Given the description of an element on the screen output the (x, y) to click on. 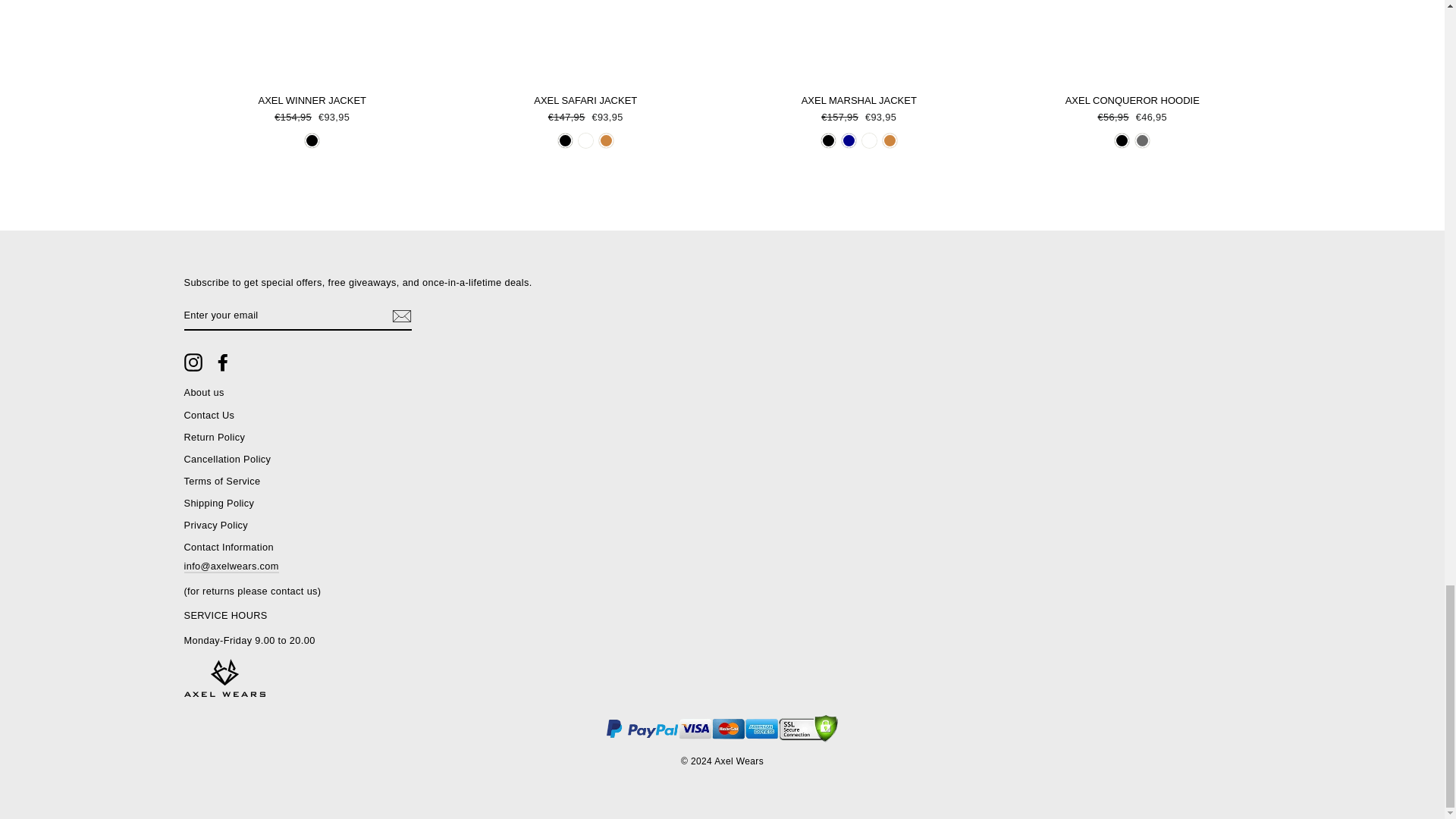
Axel Wears on Instagram (192, 361)
Axel Wears on Facebook (222, 361)
